Given the description of an element on the screen output the (x, y) to click on. 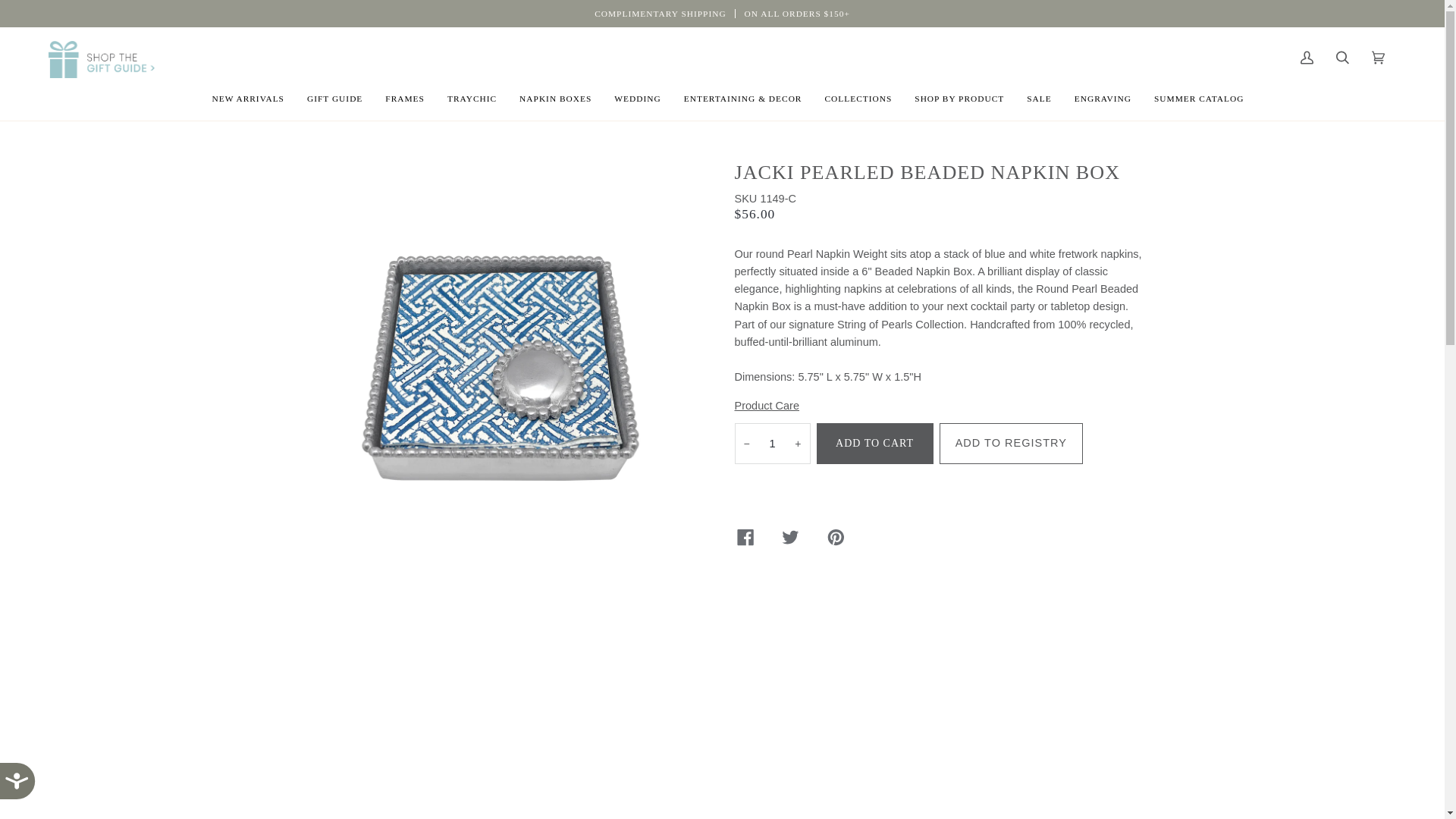
Accessibility (29, 790)
NEW ARRIVALS (247, 97)
GIFT GUIDE (334, 97)
1 (771, 443)
Help widget launcher (1257, 793)
FRAMES (404, 97)
